Given the description of an element on the screen output the (x, y) to click on. 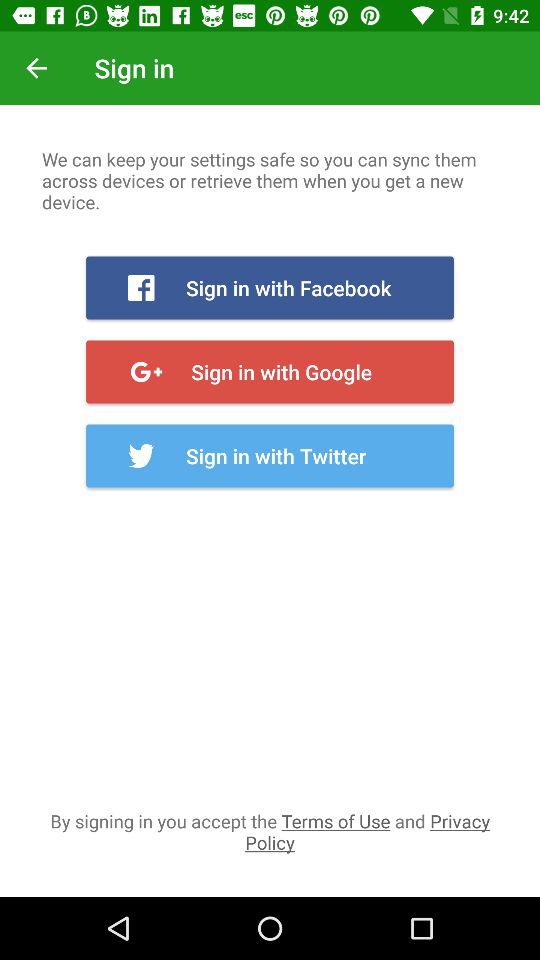
turn off the by signing in icon (270, 831)
